Given the description of an element on the screen output the (x, y) to click on. 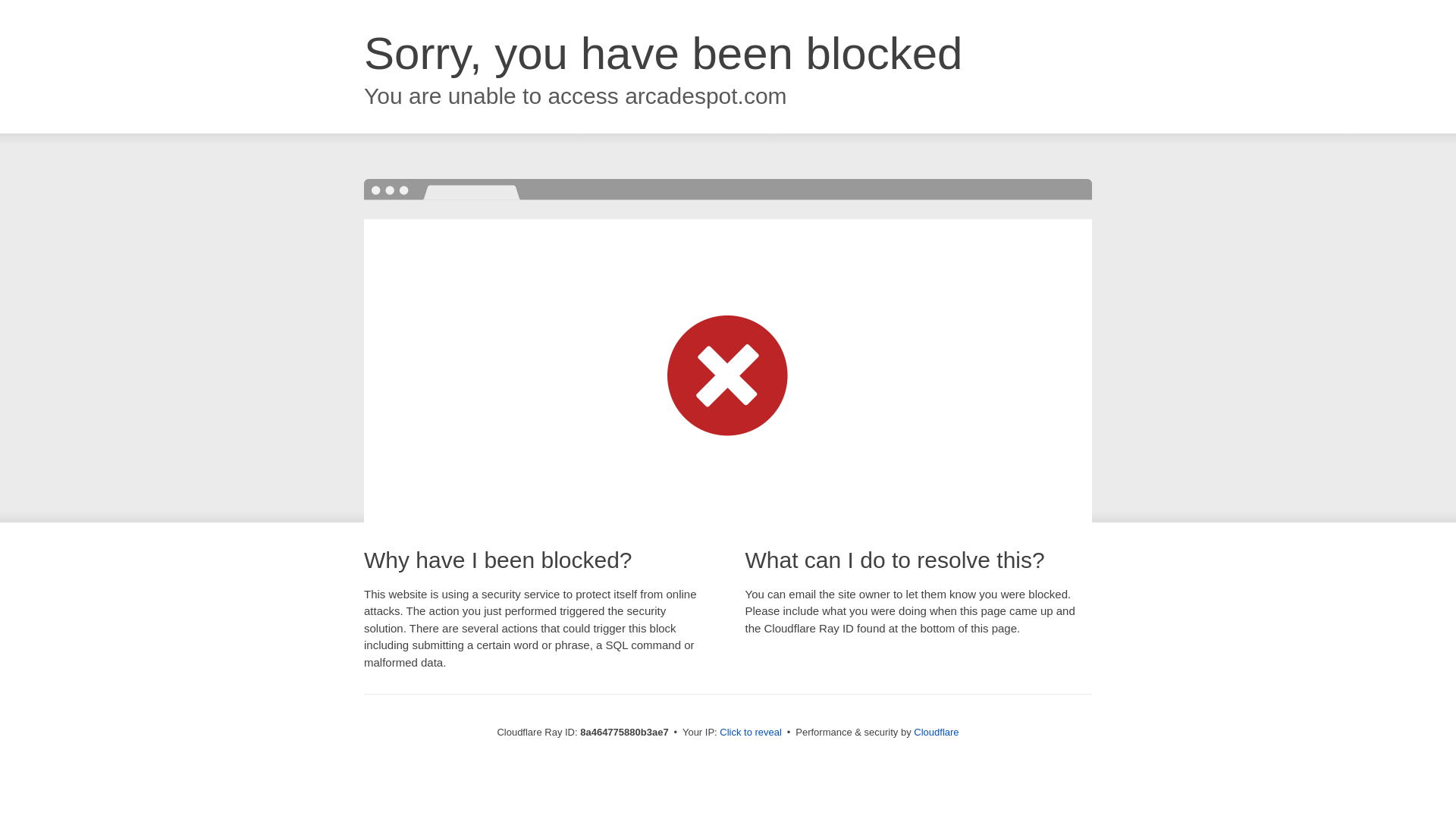
Cloudflare (936, 731)
Click to reveal (750, 732)
